Given the description of an element on the screen output the (x, y) to click on. 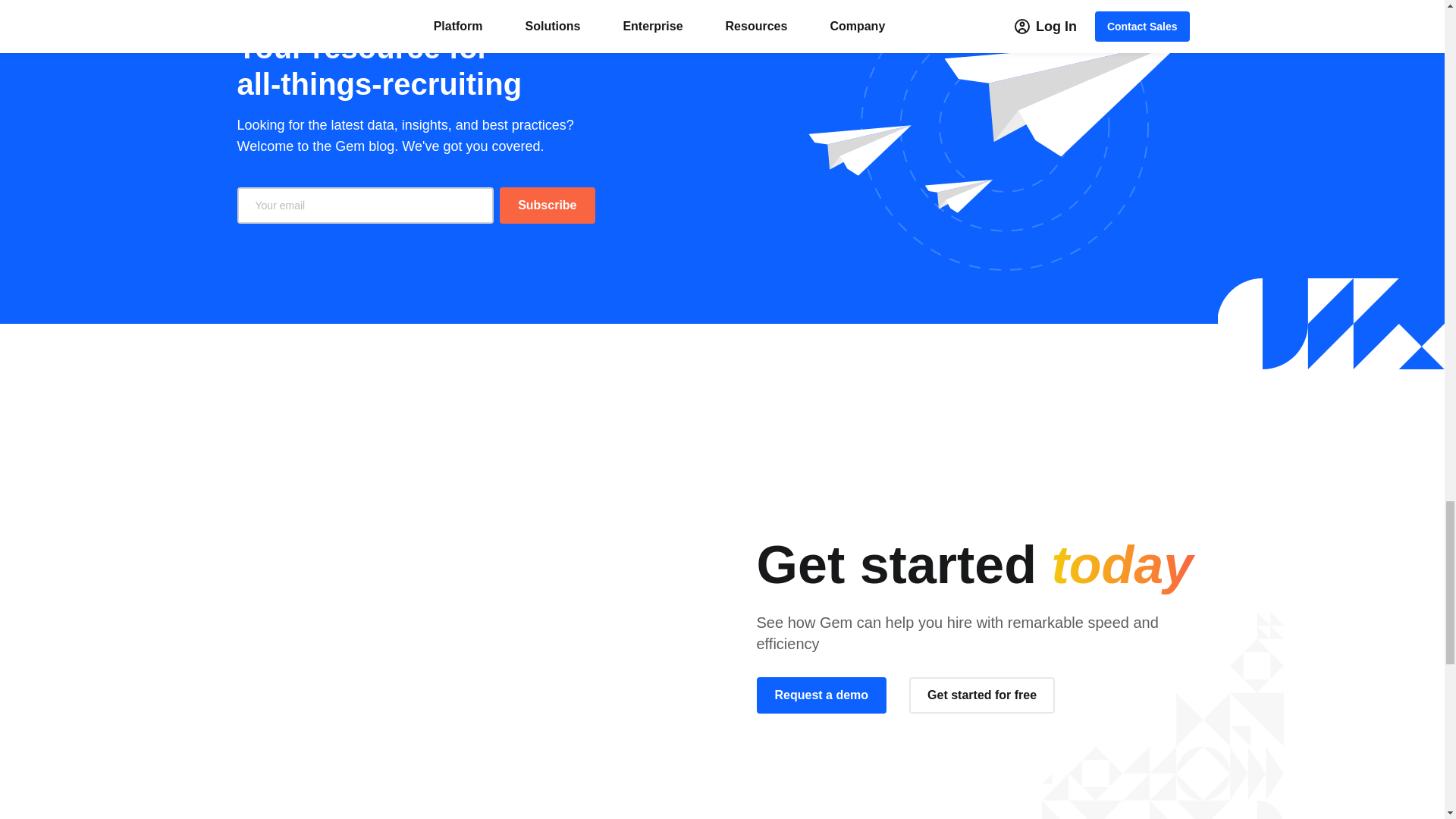
Request a demo (821, 695)
Get started for free (981, 695)
Subscribe (546, 205)
